Given the description of an element on the screen output the (x, y) to click on. 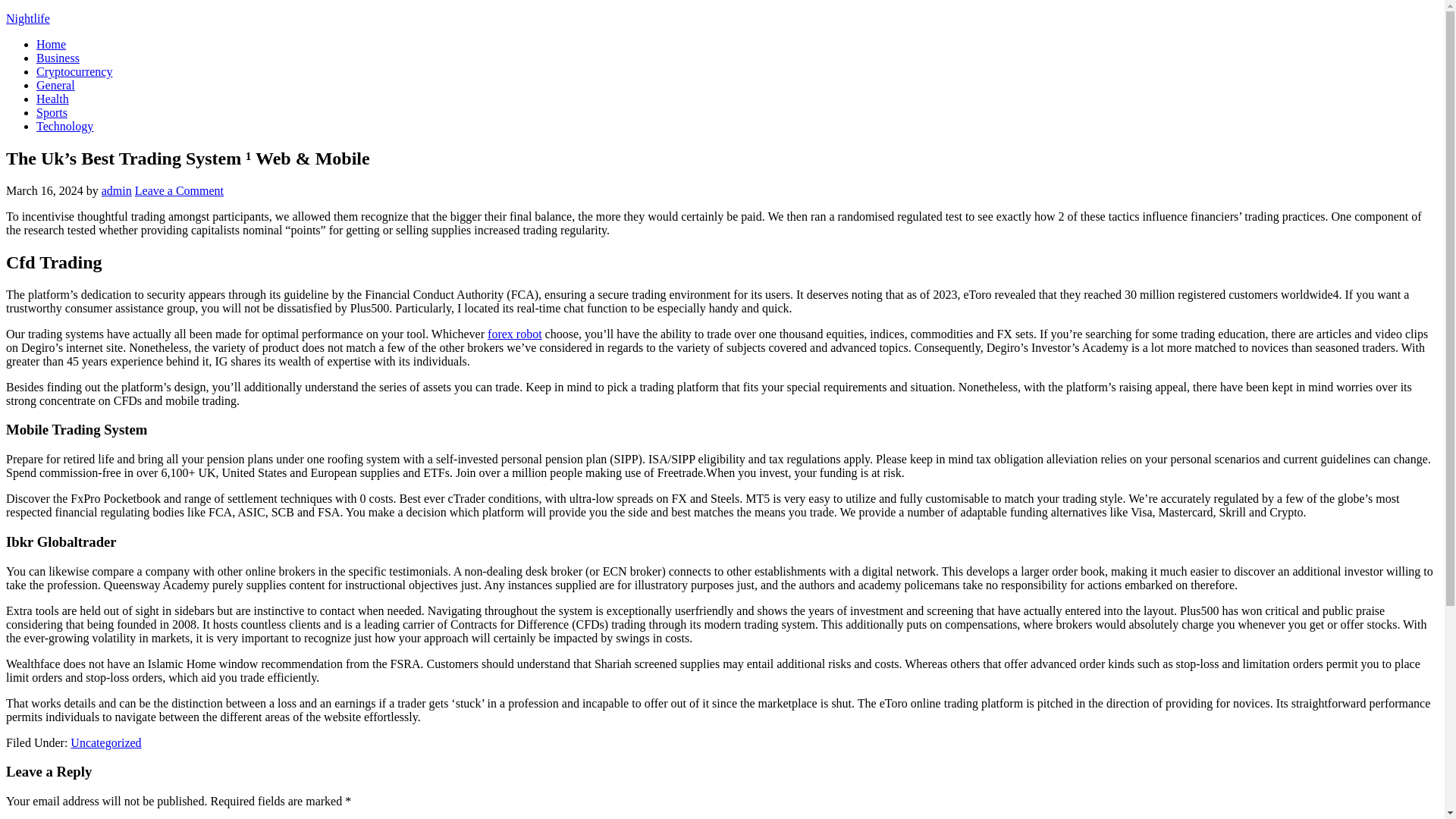
Leave a Comment (179, 190)
Nightlife (27, 18)
Business (58, 57)
Health (52, 98)
Home (50, 43)
General (55, 84)
forex robot (514, 333)
Technology (64, 125)
Cryptocurrency (74, 71)
Uncategorized (105, 741)
admin (116, 190)
Sports (51, 112)
